Given the description of an element on the screen output the (x, y) to click on. 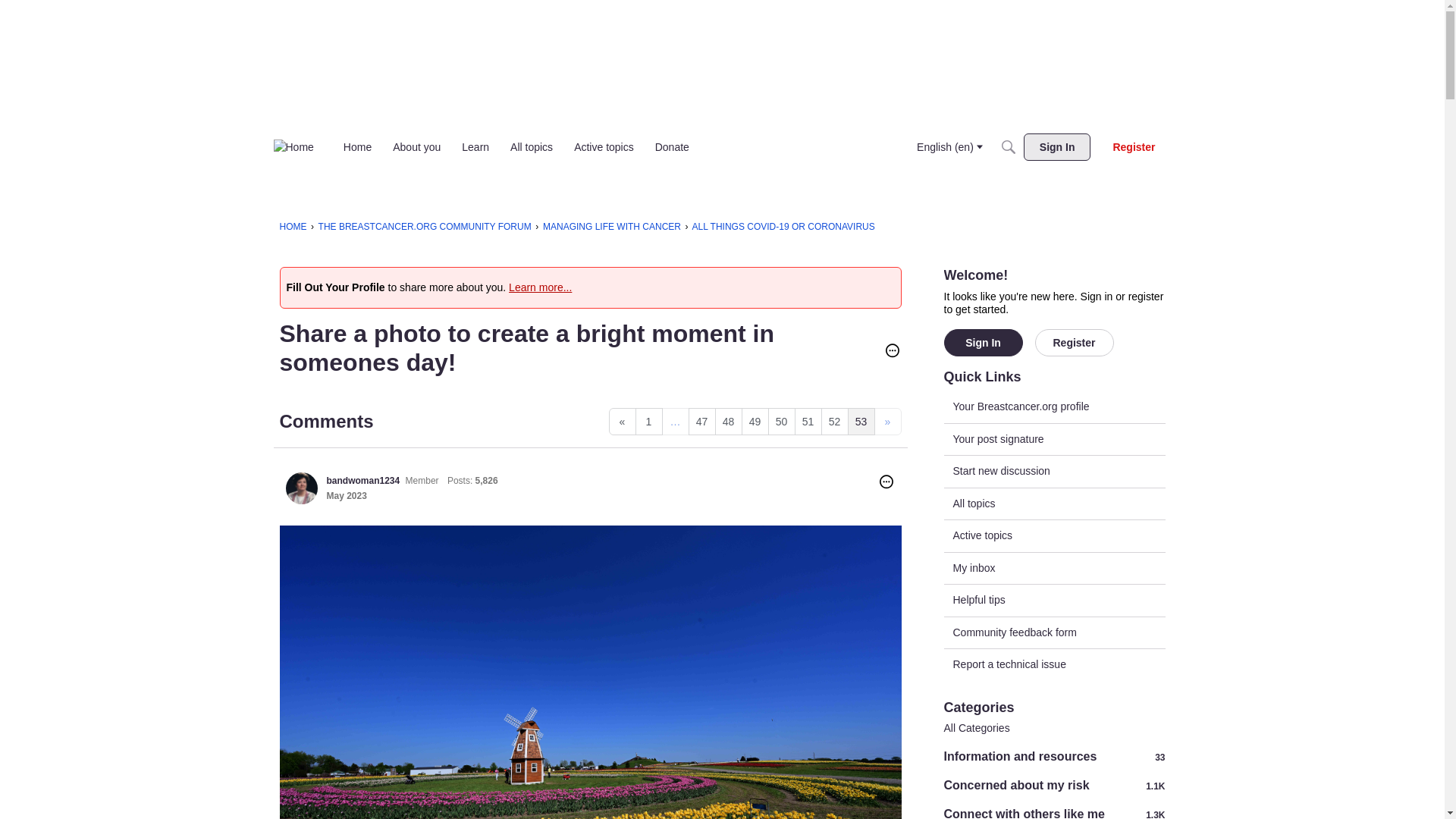
About you (416, 146)
47 (702, 420)
Sign In (1056, 146)
Previous Page (621, 420)
51 (808, 420)
Search (1008, 146)
49 (754, 420)
50 (780, 420)
48 (727, 420)
All topics (531, 146)
Active topics (603, 146)
May 22, 2023 3:34AM (346, 495)
53 (861, 420)
Learn more... (540, 287)
bandwoman1234 (301, 488)
